Given the description of an element on the screen output the (x, y) to click on. 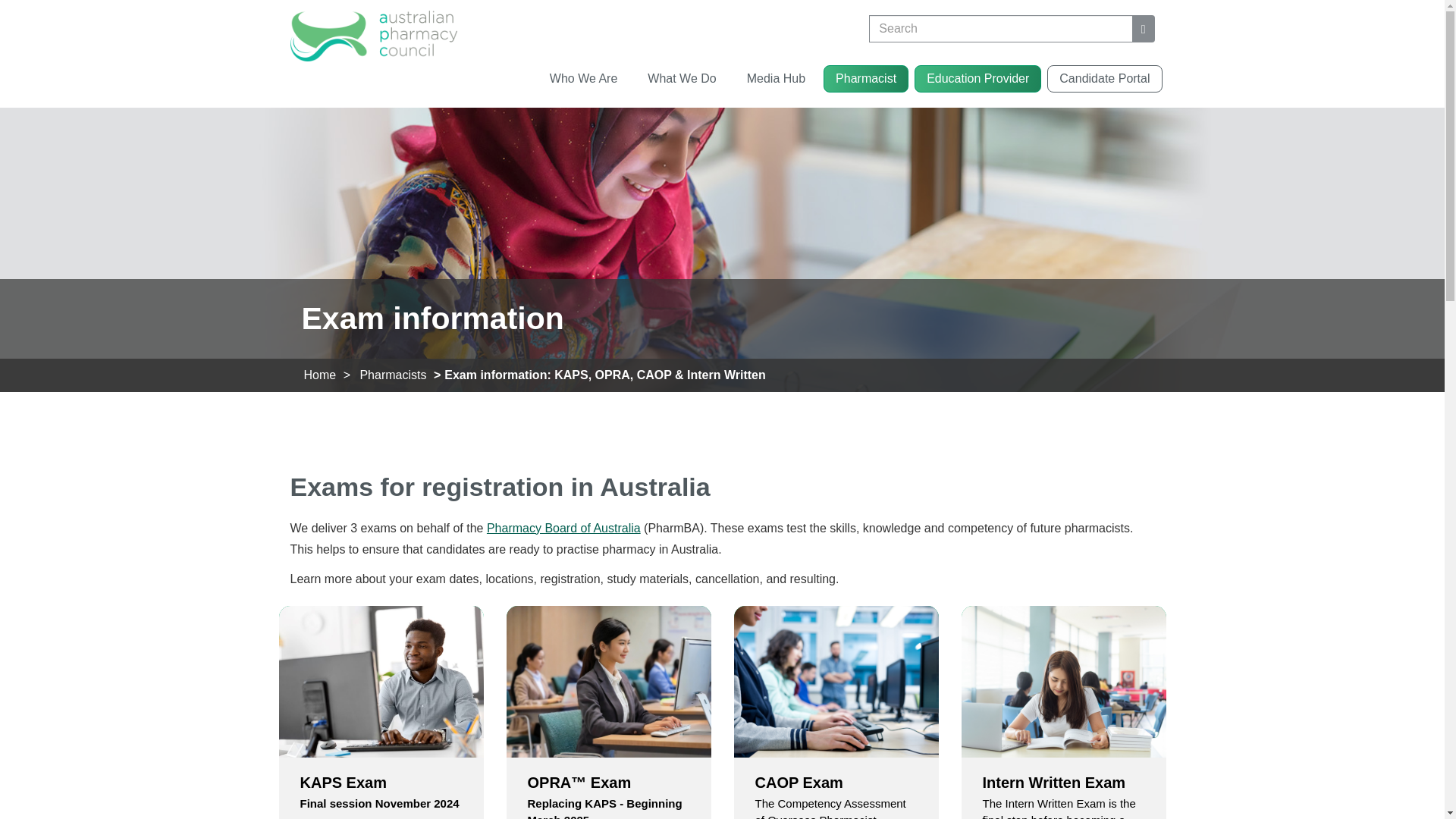
Candidate Portal (1103, 78)
Who We Are (583, 78)
Pharmacists (392, 374)
Education Provider (977, 78)
What We Do (681, 78)
Who We Are (583, 78)
What We Do (681, 78)
Home (319, 374)
Media Hub (775, 78)
Pharmacy Board of Australia (563, 527)
